Given the description of an element on the screen output the (x, y) to click on. 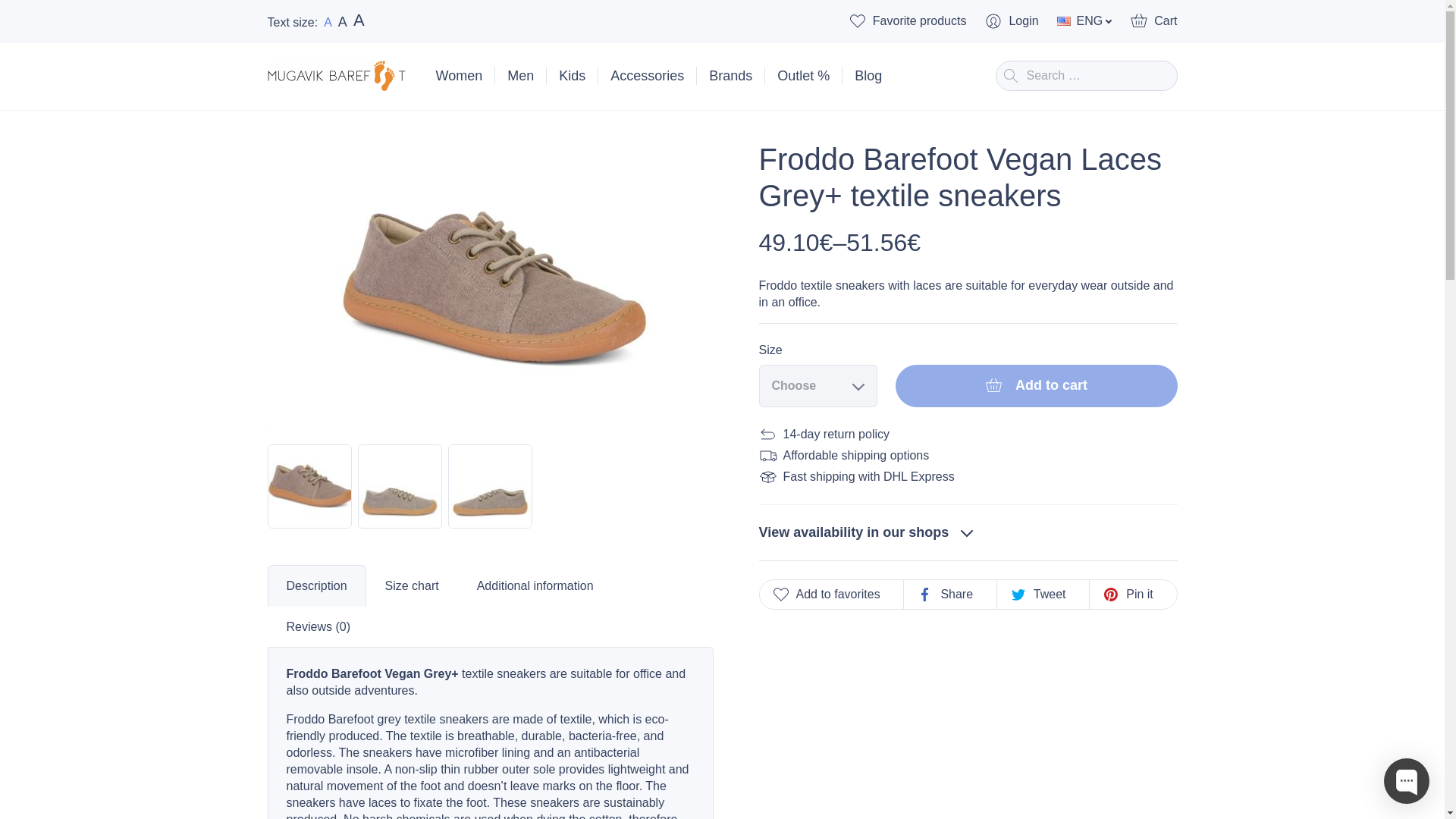
Brands (342, 21)
G3130228-2 (327, 22)
Cart (730, 75)
Favorite products (489, 289)
Accessories (1152, 21)
ENG (907, 21)
Login (646, 75)
Men (1084, 21)
Kids (1011, 21)
Women (359, 20)
